Given the description of an element on the screen output the (x, y) to click on. 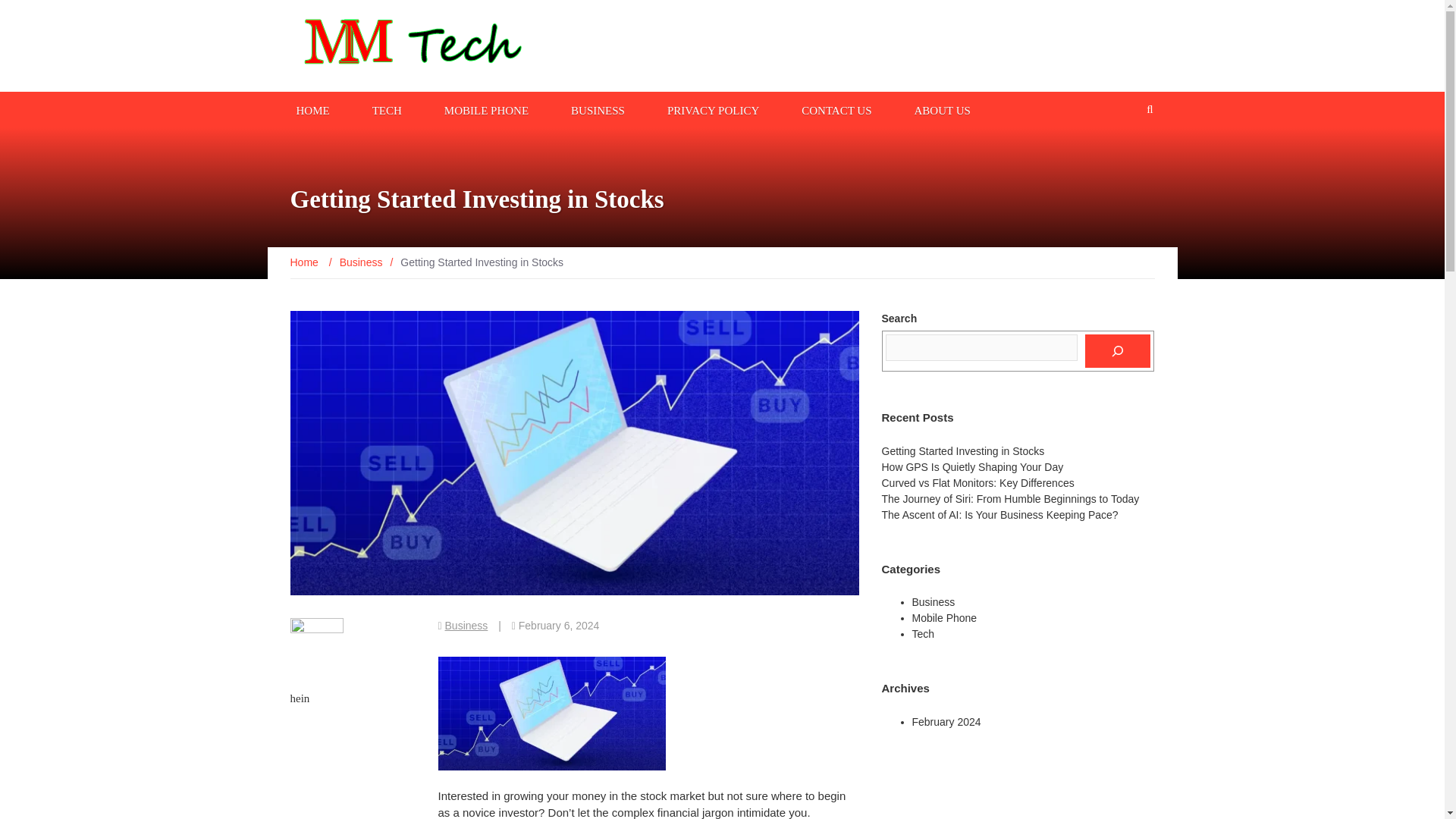
Business (360, 262)
MOBILE PHONE (486, 109)
BUSINESS (597, 109)
Business (466, 625)
ABOUT US (942, 109)
Getting Started Investing in Stocks (961, 451)
The Journey of Siri: From Humble Beginnings to Today (1009, 499)
Posts by hein (298, 698)
hein (298, 698)
Mobile Phone (943, 617)
Home (304, 262)
TECH (386, 109)
HOME (311, 109)
The Ascent of AI: Is Your Business Keeping Pace? (999, 514)
Curved vs Flat Monitors: Key Differences (977, 482)
